Given the description of an element on the screen output the (x, y) to click on. 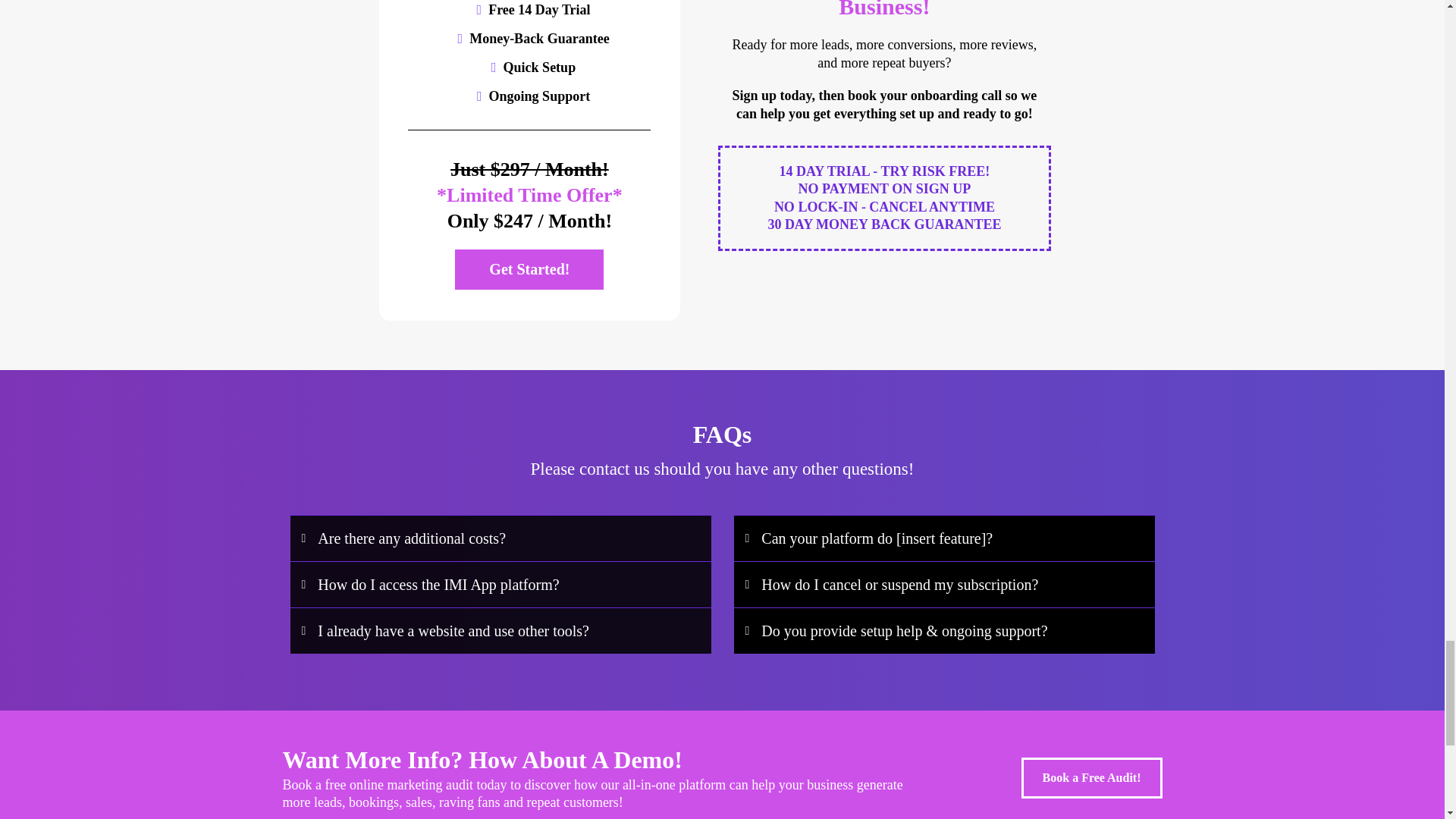
Get Started! (529, 268)
Book a Free Audit! (1091, 777)
